Given the description of an element on the screen output the (x, y) to click on. 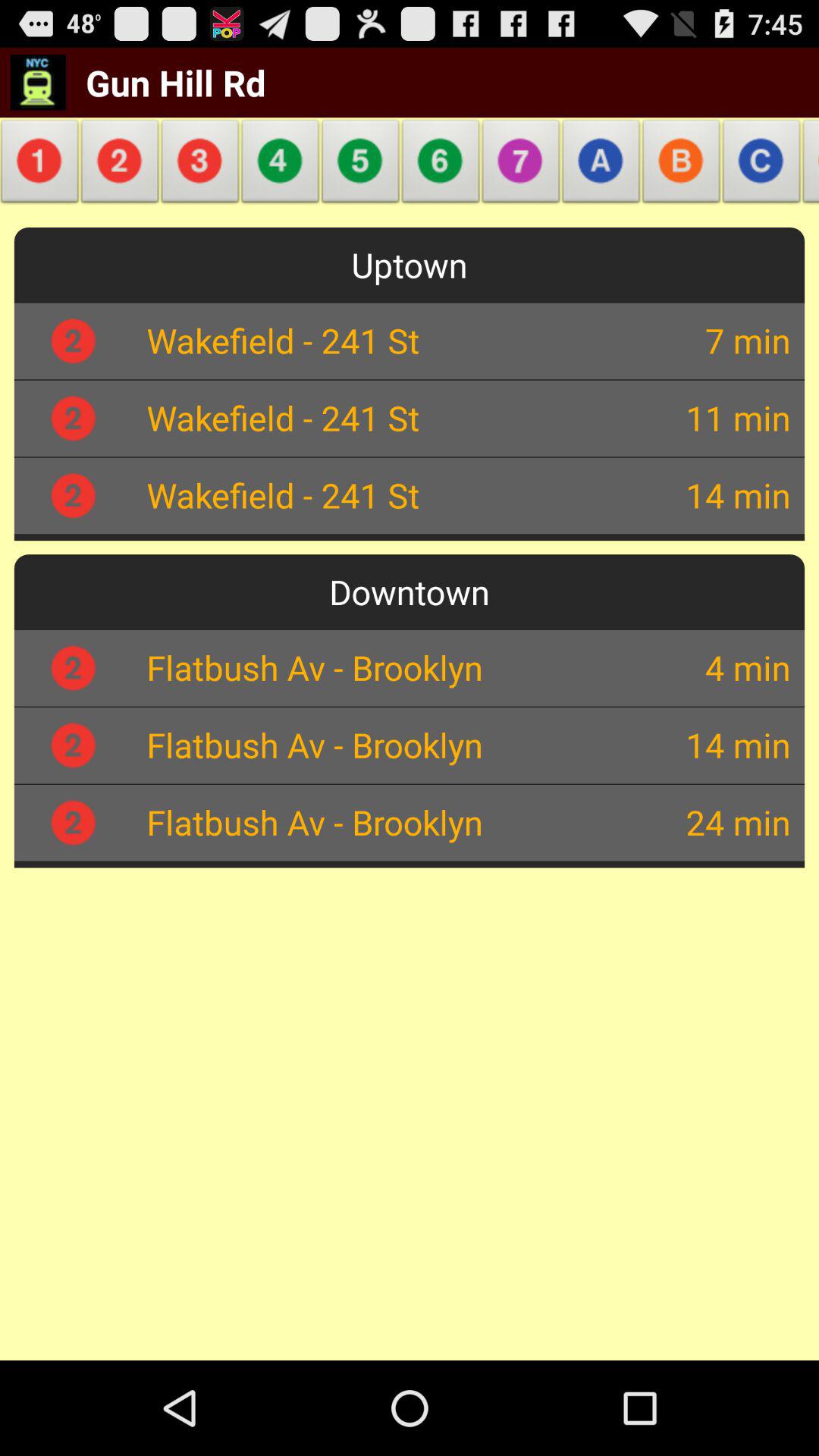
tap item below the gun hill rd item (280, 165)
